Given the description of an element on the screen output the (x, y) to click on. 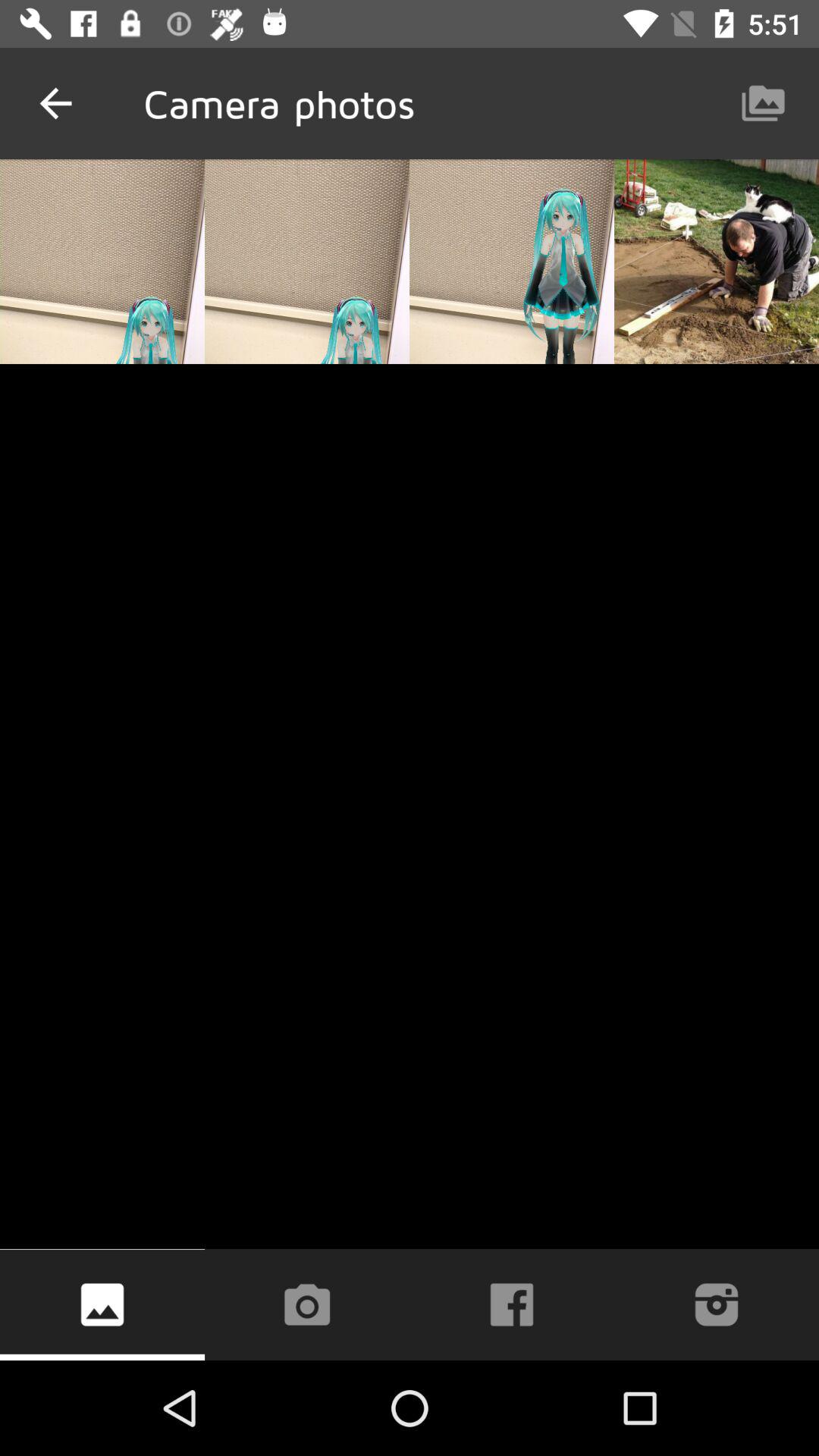
share to facebook (511, 1304)
